Given the description of an element on the screen output the (x, y) to click on. 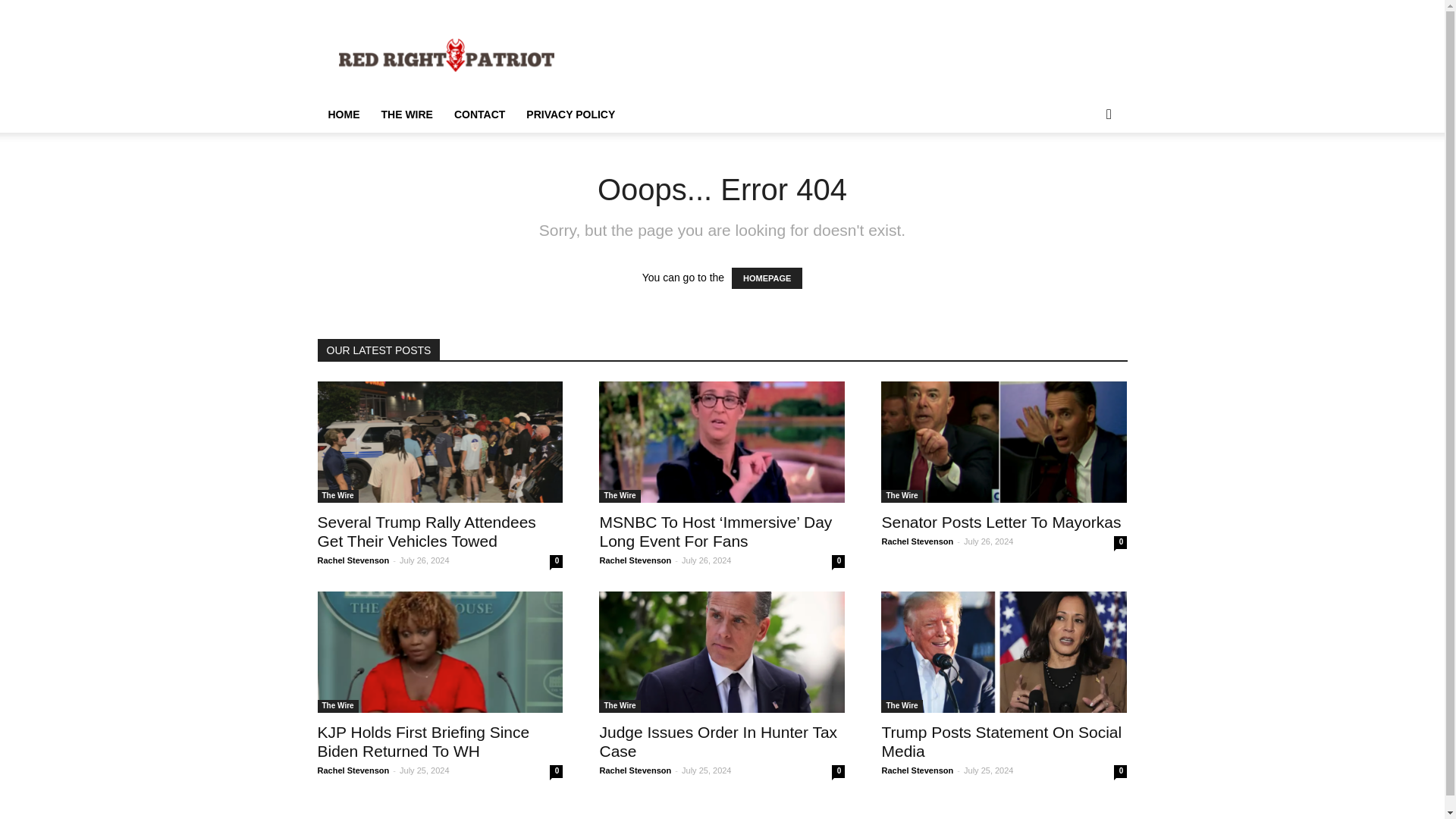
KJP Holds First Briefing Since Biden Returned To WH (423, 741)
Rachel Stevenson (352, 560)
THE WIRE (405, 114)
HOME (343, 114)
PRIVACY POLICY (570, 114)
Several Trump Rally Attendees Get Their Vehicles Towed (439, 441)
The Wire (619, 495)
Senator Posts Letter To Mayorkas (1000, 521)
0 (556, 561)
CONTACT (479, 114)
Senator Posts Letter To Mayorkas (1003, 441)
HOMEPAGE (767, 278)
KJP Holds First Briefing Since Biden Returned To WH (439, 651)
Several Trump Rally Attendees Get Their Vehicles Towed (426, 531)
Several Trump Rally Attendees Get Their Vehicles Towed (426, 531)
